Given the description of an element on the screen output the (x, y) to click on. 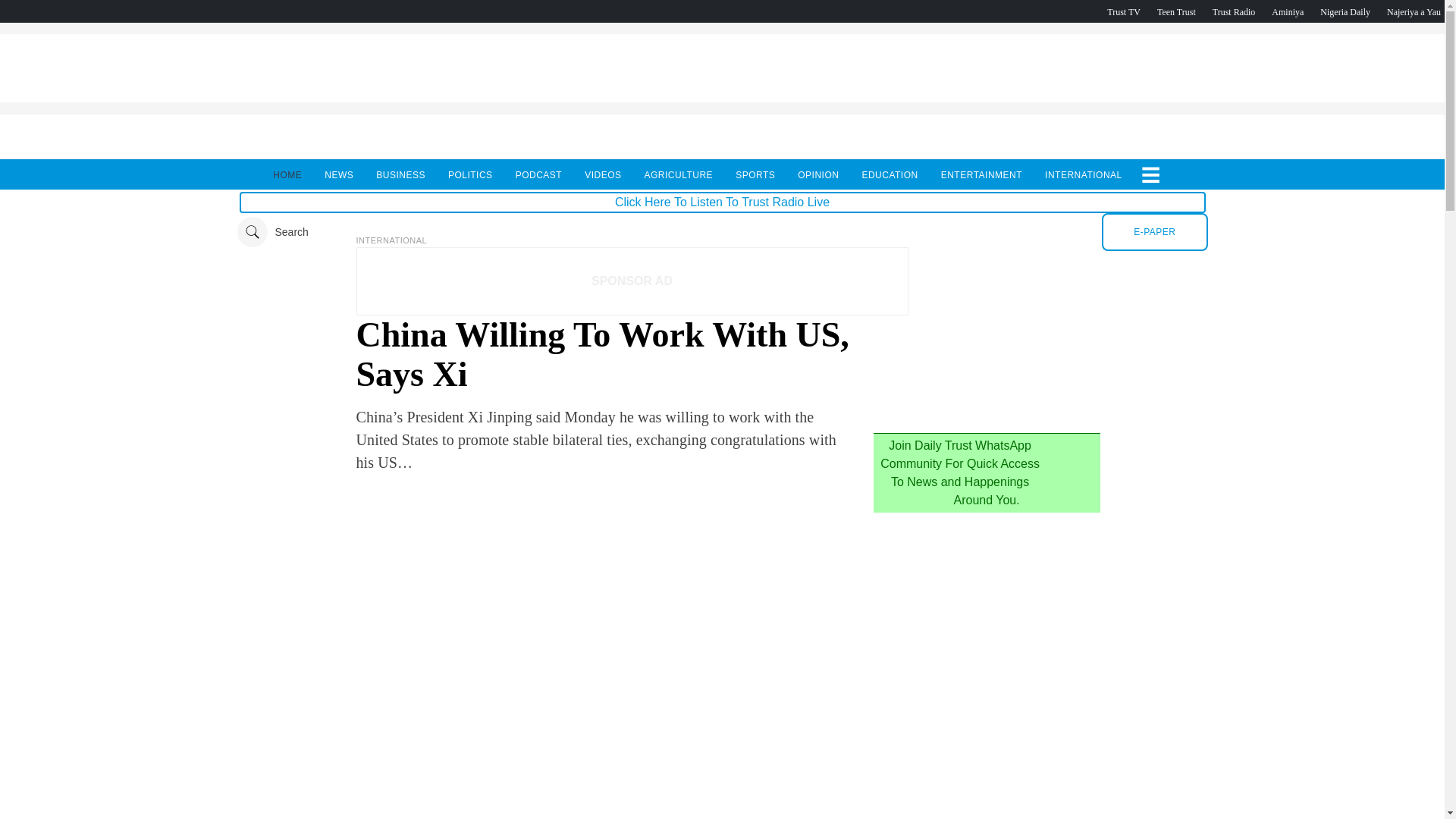
Podcast (1345, 11)
Trust TV (1123, 11)
E-PAPER (1154, 231)
Nigeria Daily (1345, 11)
Saurari Shirye Shiryenmu (1414, 11)
Teen Trust (1176, 11)
HOME (287, 174)
Mitsubishi (986, 415)
Search (271, 232)
Aminiya Online (1287, 11)
